Given the description of an element on the screen output the (x, y) to click on. 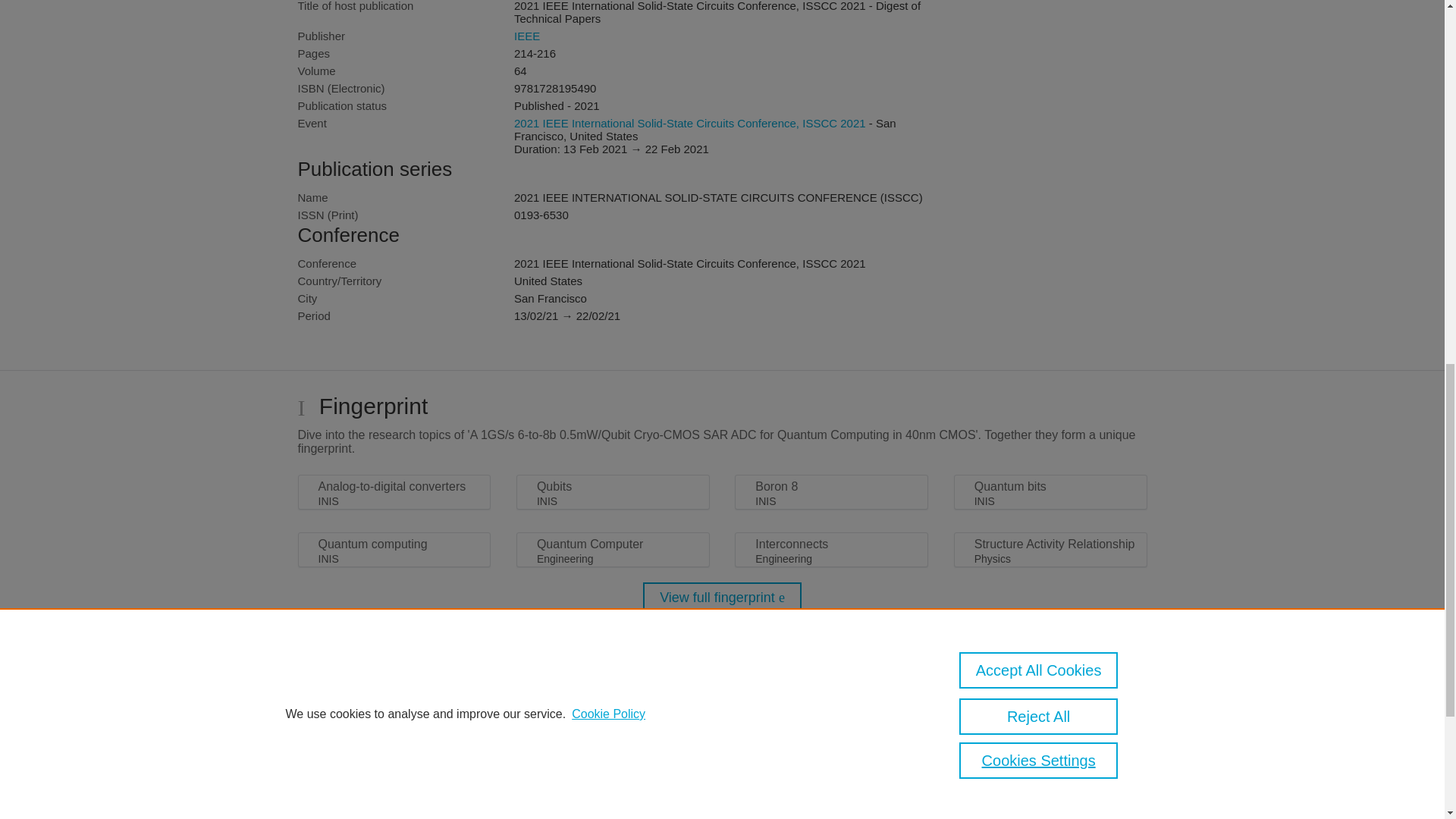
IEEE (526, 35)
